Given the description of an element on the screen output the (x, y) to click on. 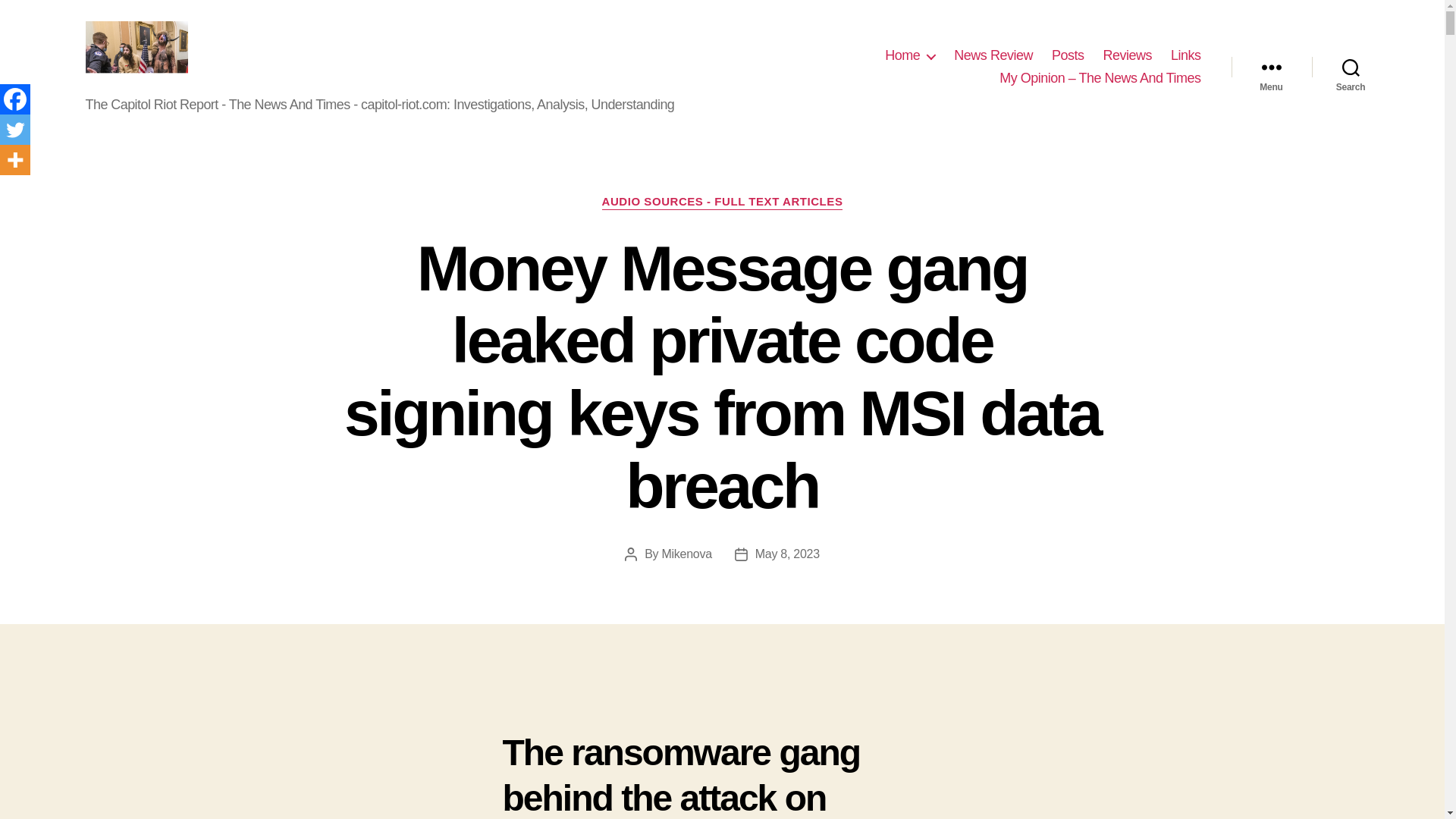
Facebook (15, 99)
AUDIO SOURCES - FULL TEXT ARTICLES (722, 201)
Menu (1271, 66)
Links (1185, 55)
Reviews (1126, 55)
Search (1350, 66)
Home (909, 55)
Mikenova (686, 553)
May 8, 2023 (787, 553)
News Review (992, 55)
